Given the description of an element on the screen output the (x, y) to click on. 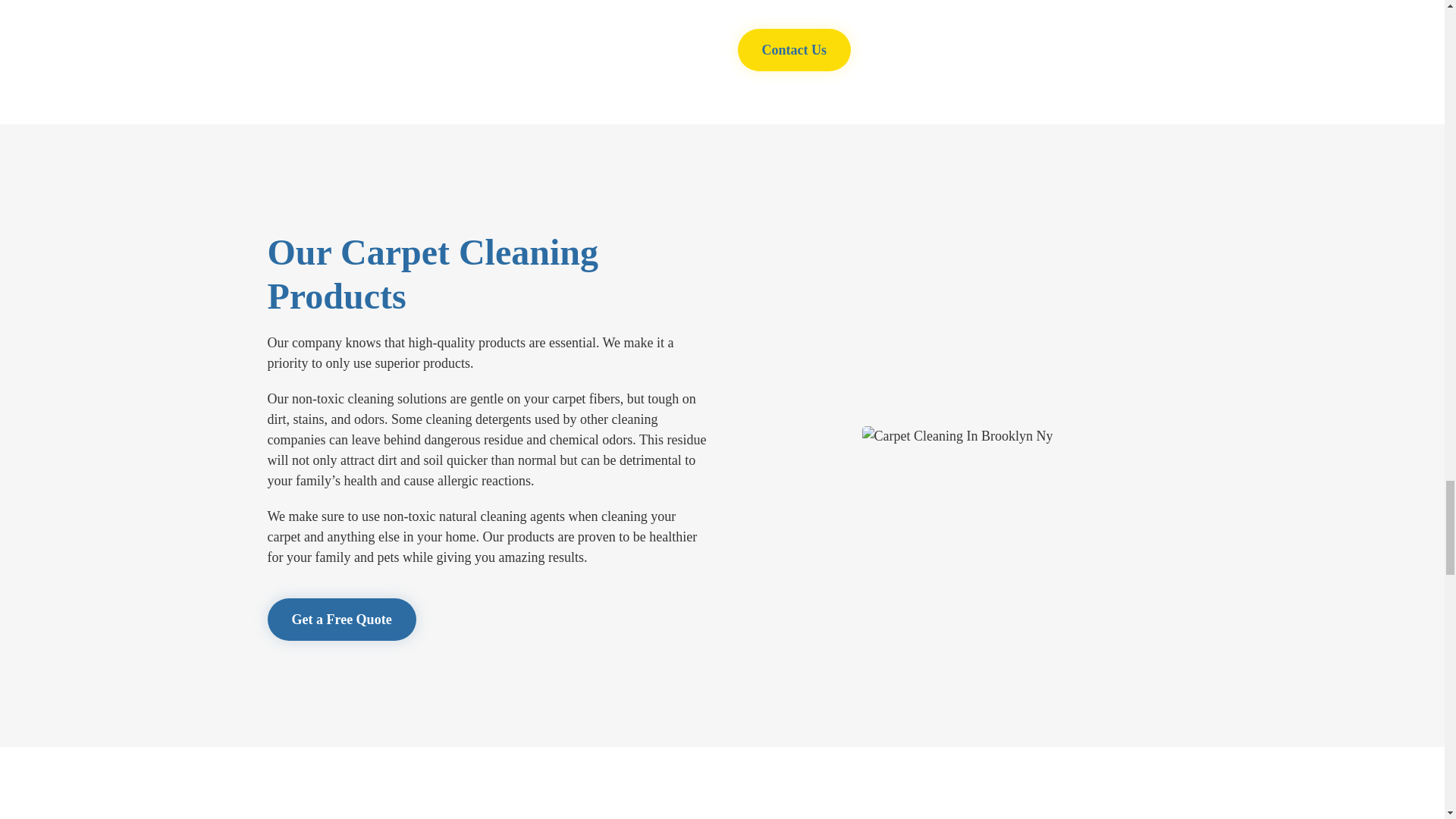
Contact Us (793, 49)
Instant Quote (340, 619)
Get a Free Quote (340, 619)
Contact Us (793, 49)
